Given the description of an element on the screen output the (x, y) to click on. 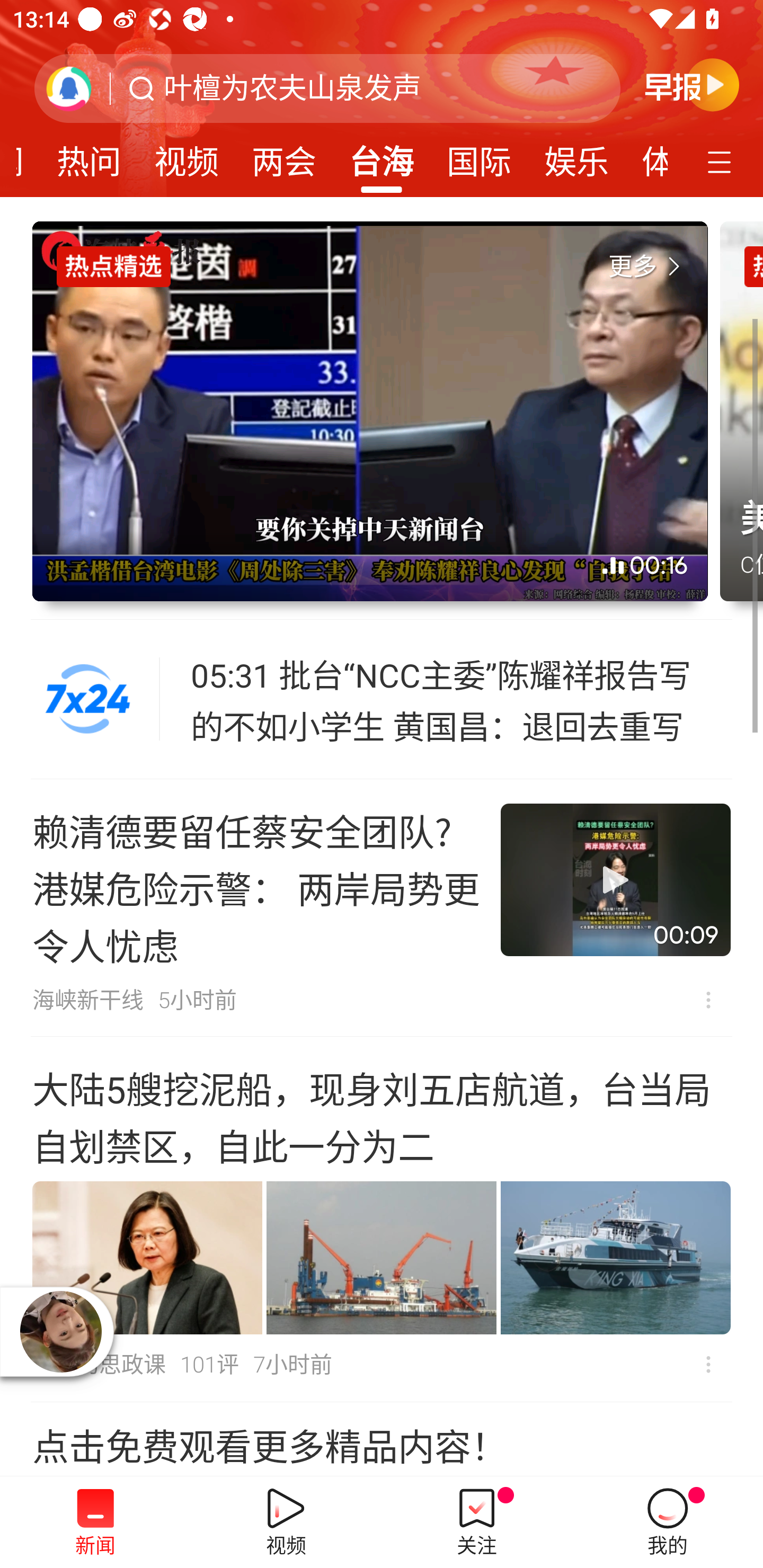
早晚报 (691, 84)
刷新 (68, 88)
叶檀为农夫山泉发声 (292, 88)
热问 (89, 155)
视频 (186, 155)
两会 (283, 155)
台海 (381, 155)
国际 (478, 155)
娱乐 (575, 155)
 定制频道 (721, 160)
更多  (648, 267)
05:31 批台“NCC主委”陈耀祥报告写的不如小学生 黄国昌：退回去重写 (461, 699)
 不感兴趣 (707, 1000)
播放器 (60, 1331)
 不感兴趣 (707, 1364)
点击免费观看更多精品内容！ (381, 1439)
